Given the description of an element on the screen output the (x, y) to click on. 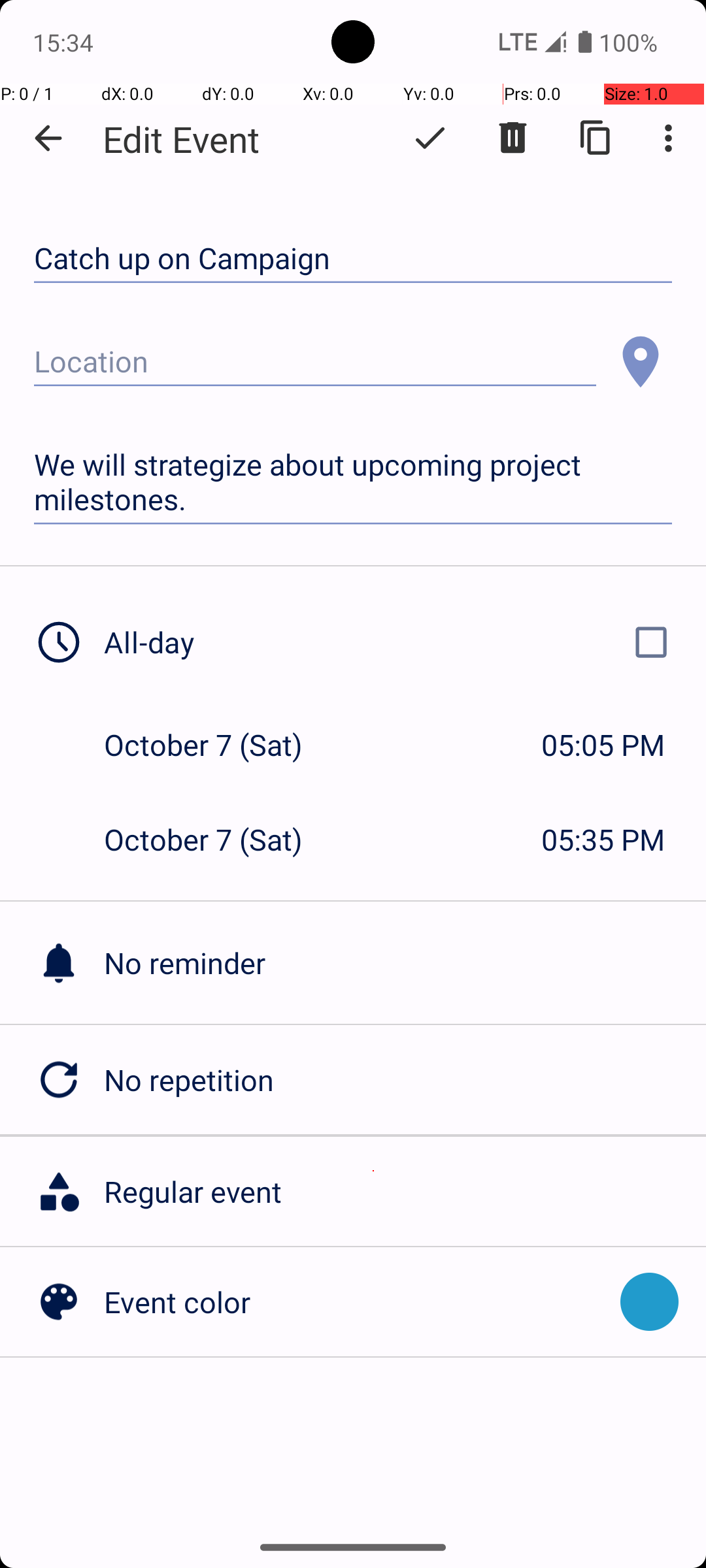
We will strategize about upcoming project milestones. Element type: android.widget.EditText (352, 482)
October 7 (Sat) Element type: android.widget.TextView (216, 744)
05:05 PM Element type: android.widget.TextView (602, 744)
05:35 PM Element type: android.widget.TextView (602, 838)
